Given the description of an element on the screen output the (x, y) to click on. 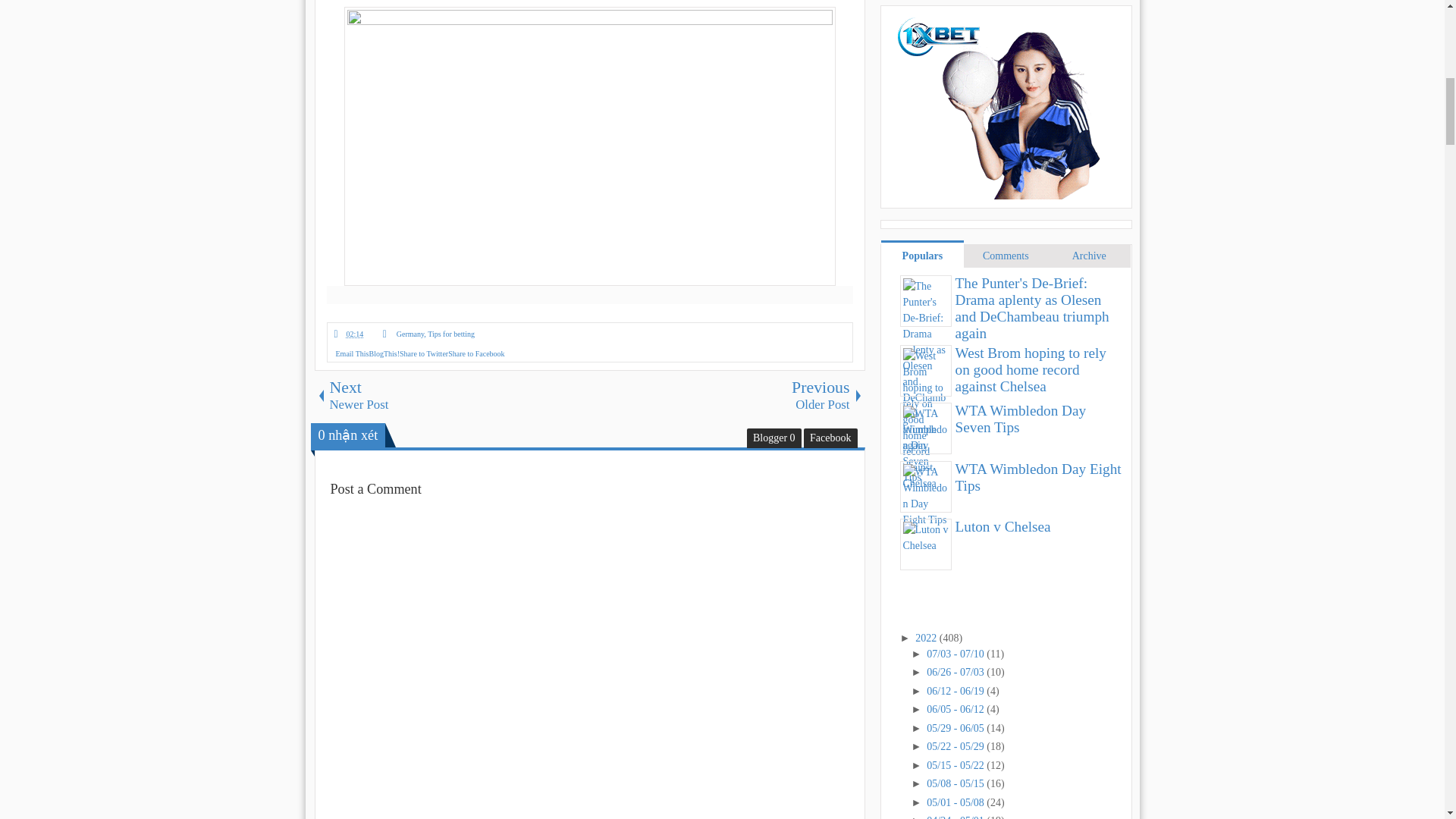
Share to Facebook (475, 353)
Germany (410, 334)
Email This (351, 353)
Email This (351, 353)
02:14 (349, 334)
Share to Twitter (423, 353)
BlogThis! (451, 395)
BlogThis! (726, 395)
permanent link (383, 353)
Share to Twitter (383, 353)
Share to Facebook (349, 334)
Tips for betting (423, 353)
